Given the description of an element on the screen output the (x, y) to click on. 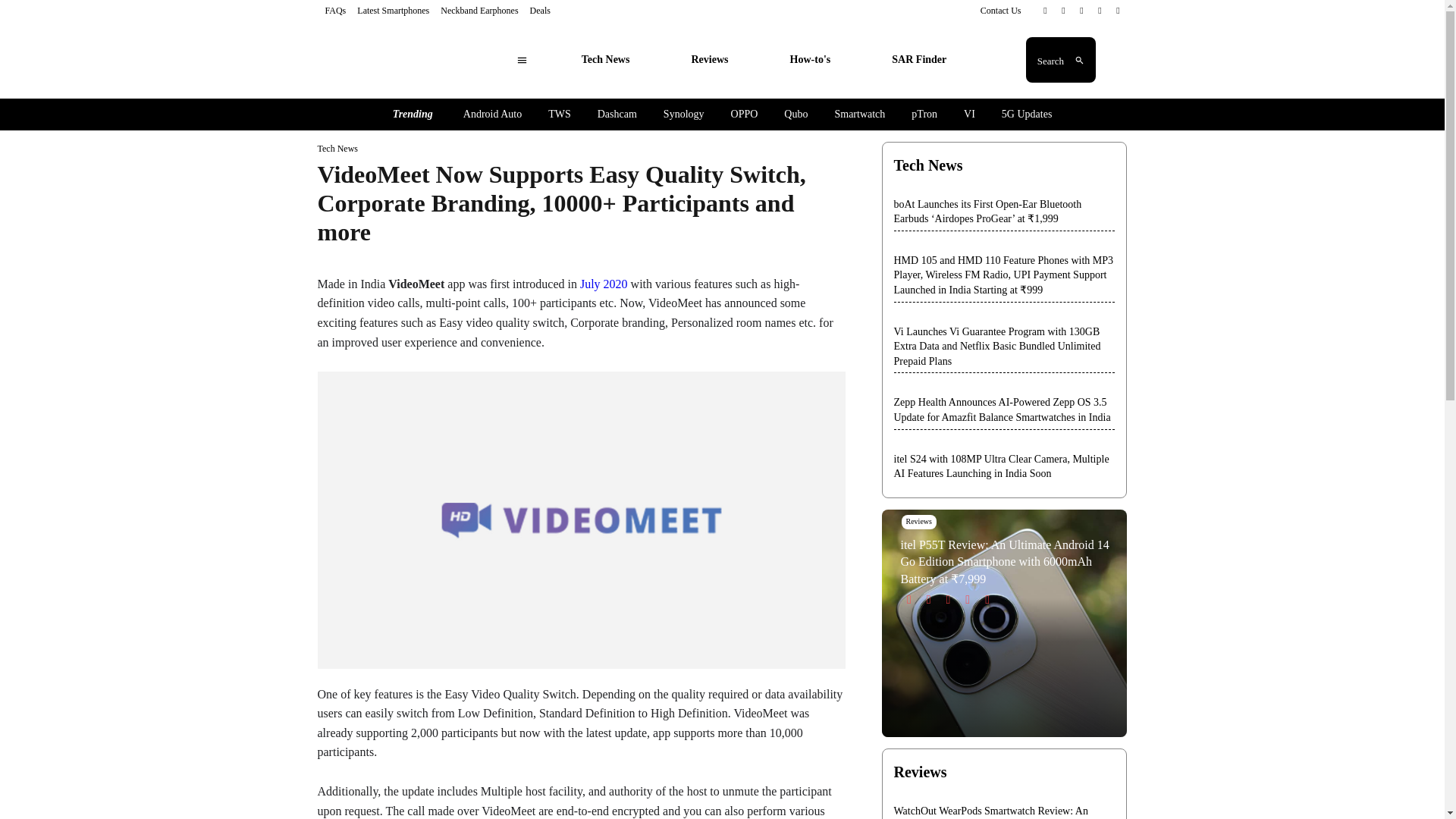
Latest Smartphones (392, 9)
Deals (539, 9)
View all posts in Tech News (336, 148)
Twitter (1080, 10)
Search (1061, 59)
WhatsApp (1099, 10)
Neckband Earphones (479, 9)
